Given the description of an element on the screen output the (x, y) to click on. 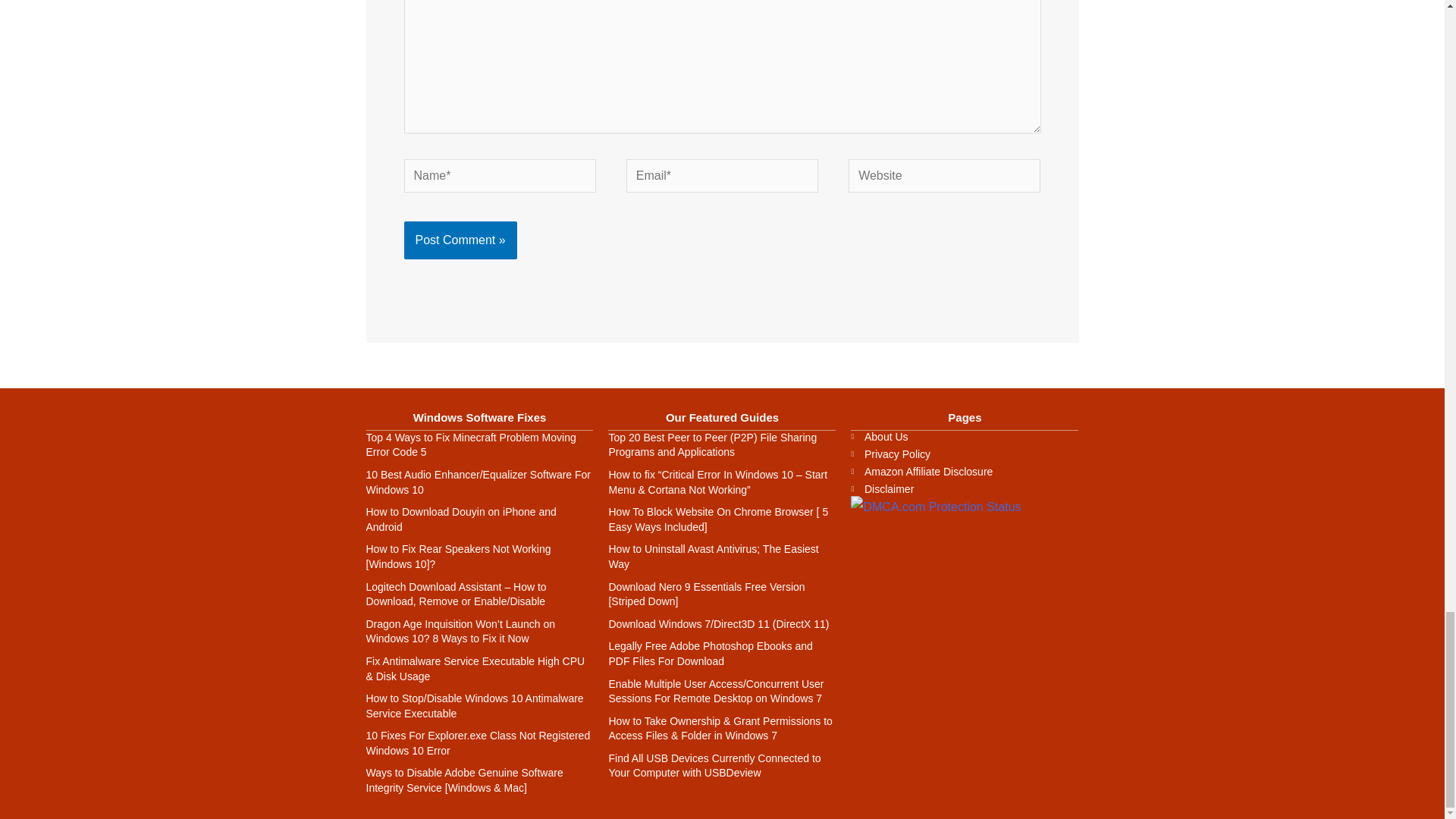
Top 4 Ways to Fix Minecraft Problem Moving Error Code 5 (470, 444)
How to Download Douyin on iPhone and Android (460, 519)
DMCA.com Protection Status (935, 505)
How to Uninstall Avast Antivirus; The Easiest Way (713, 556)
